Given the description of an element on the screen output the (x, y) to click on. 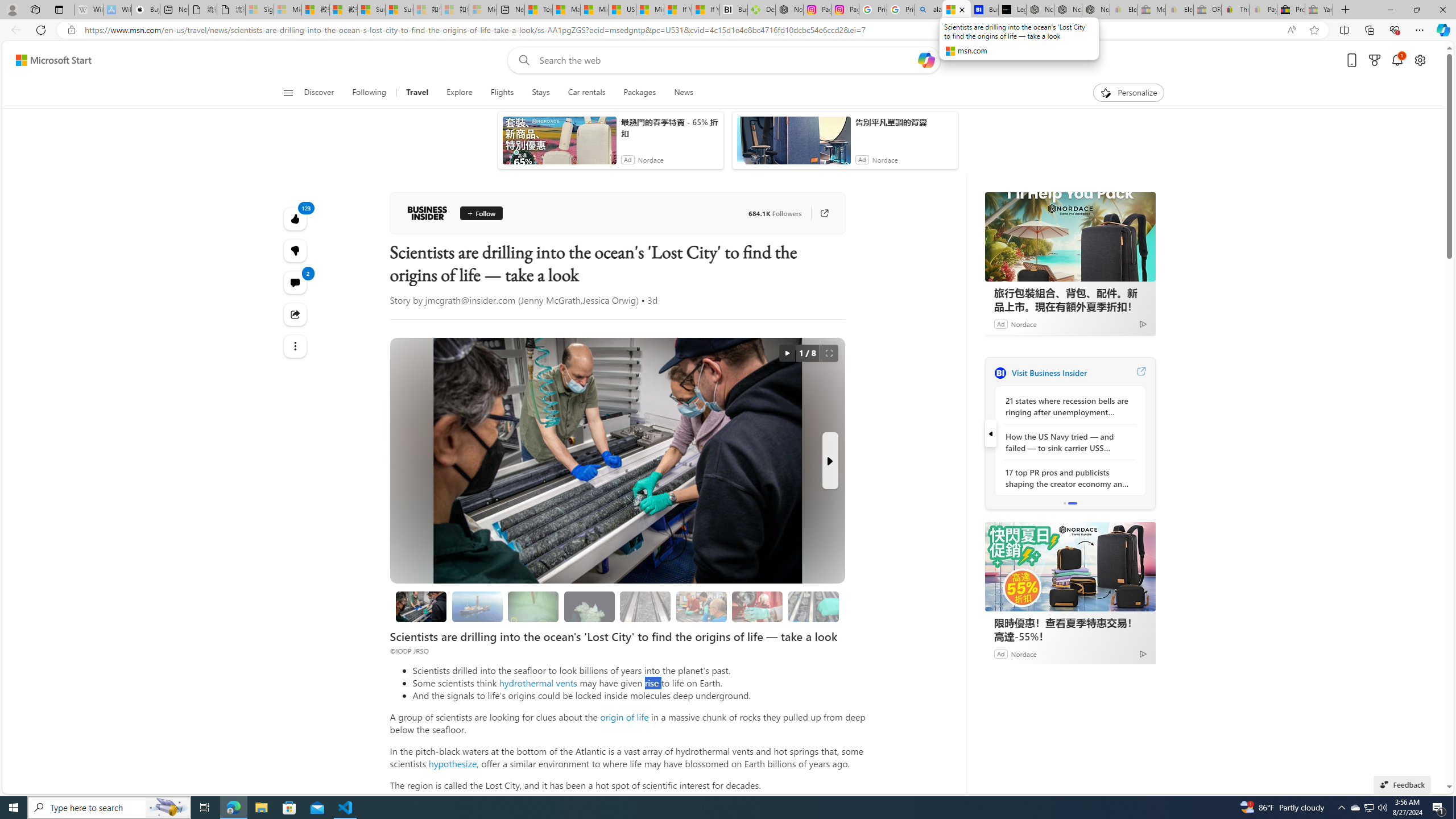
Packages (639, 92)
hydrothermal vents (537, 682)
Microsoft Services Agreement - Sleeping (288, 9)
